Given the description of an element on the screen output the (x, y) to click on. 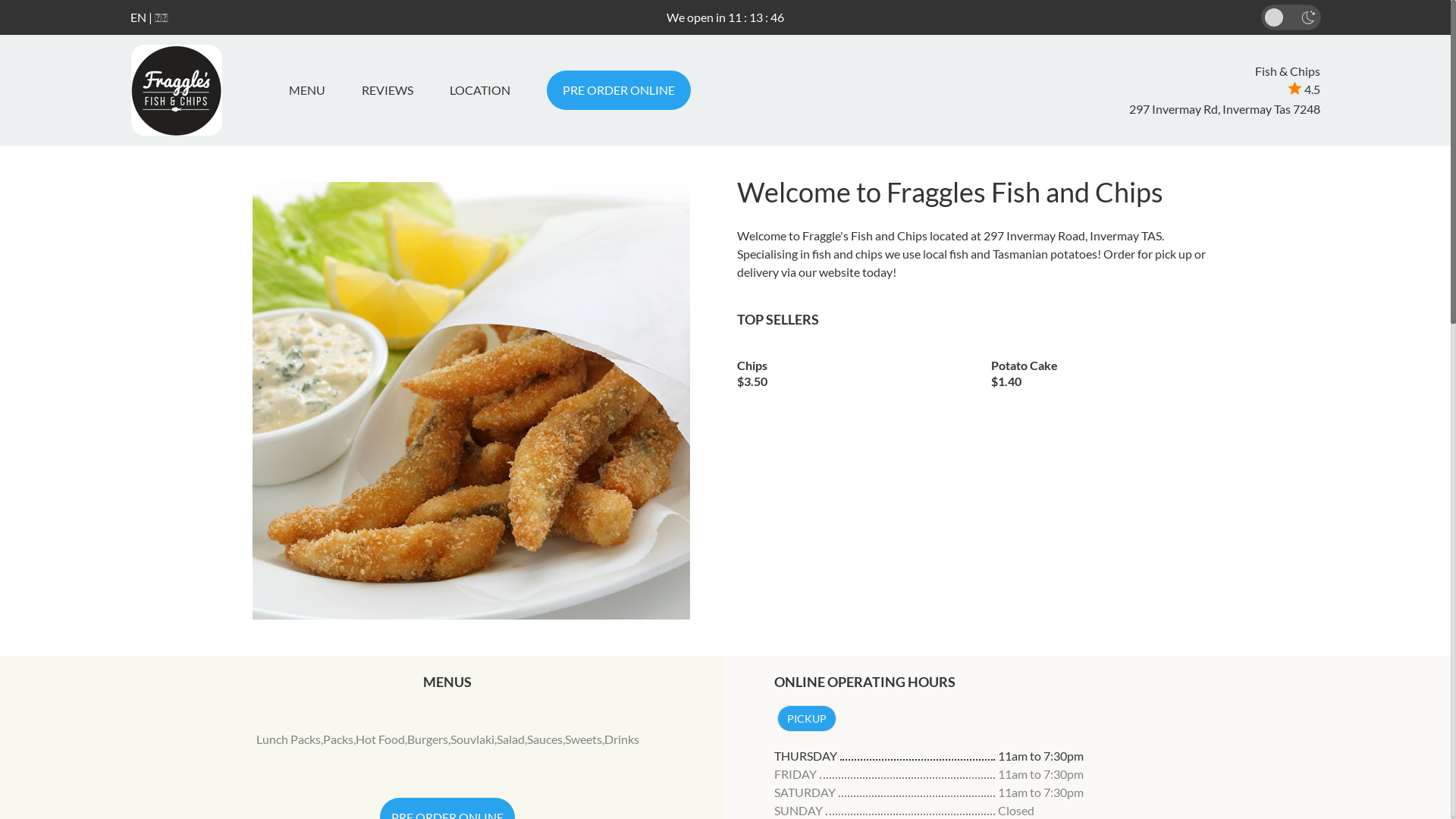
Souvlaki Element type: text (472, 738)
PICKUP Element type: text (805, 718)
Salad Element type: text (510, 738)
Potato Cake
$1.40 Element type: text (1107, 368)
Lunch Packs Element type: text (288, 738)
Burgers Element type: text (427, 738)
LOCATION Element type: text (478, 90)
PRE ORDER ONLINE Element type: text (618, 89)
Sauces Element type: text (544, 738)
Chips
$3.50 Element type: text (853, 368)
4.5 Element type: text (1303, 88)
MENU Element type: text (312, 90)
EN Element type: text (138, 16)
Packs Element type: text (338, 738)
Hot Food Element type: text (379, 738)
REVIEWS Element type: text (386, 90)
Drinks Element type: text (621, 738)
Sweets Element type: text (583, 738)
